Given the description of an element on the screen output the (x, y) to click on. 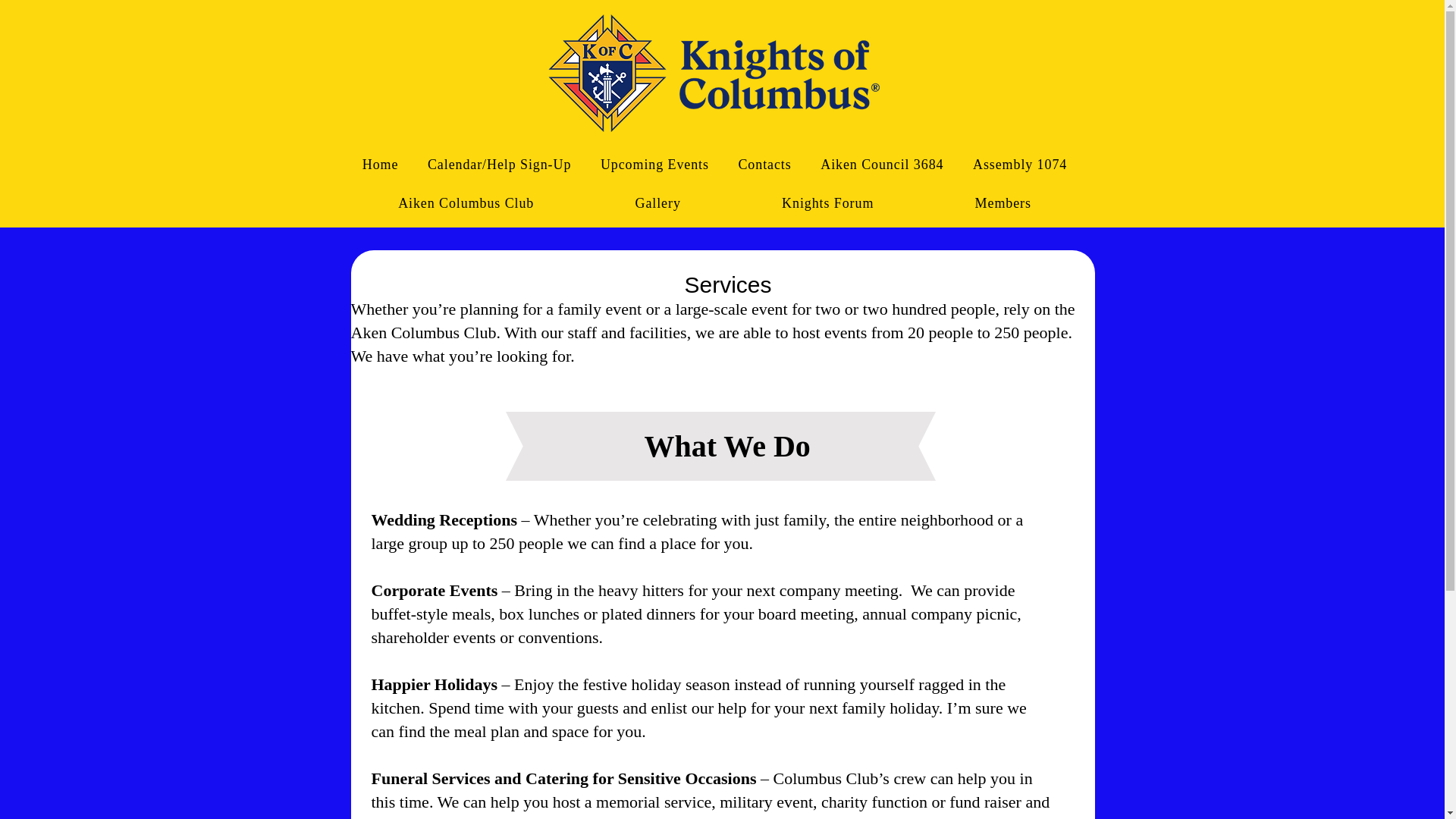
Assembly 1074 (1019, 164)
Home (379, 164)
Members (1002, 203)
Gallery (658, 203)
Aiken Council 3684 (882, 164)
Aiken Columbus Club (465, 203)
Knights Forum (827, 203)
Contacts (764, 164)
Upcoming Events (654, 164)
